Given the description of an element on the screen output the (x, y) to click on. 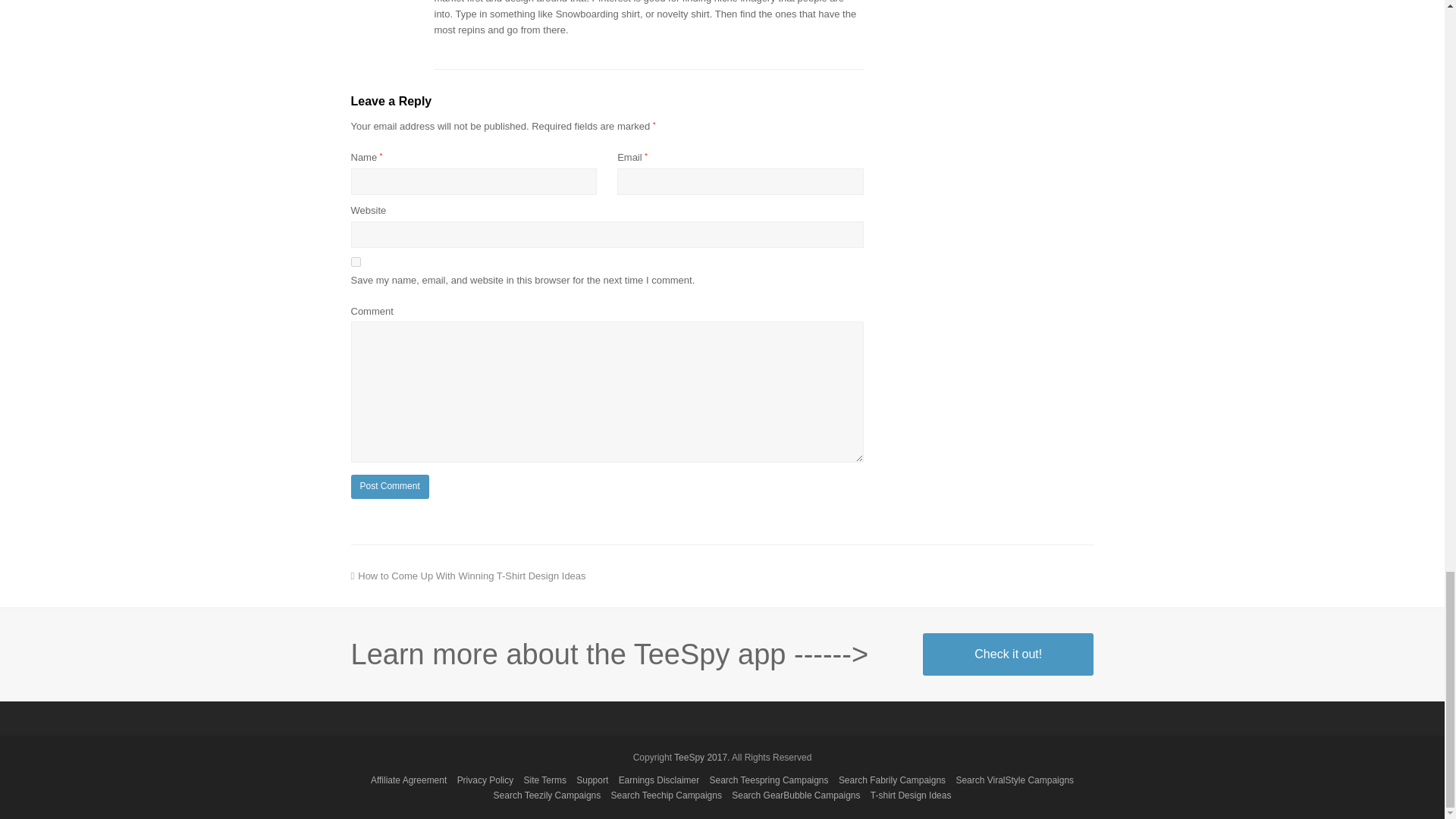
Post Comment (389, 486)
Check it out! (1008, 654)
How to Come Up With Winning T-Shirt Design Ideas (467, 575)
Post Comment (389, 486)
yes (354, 261)
